Given the description of an element on the screen output the (x, y) to click on. 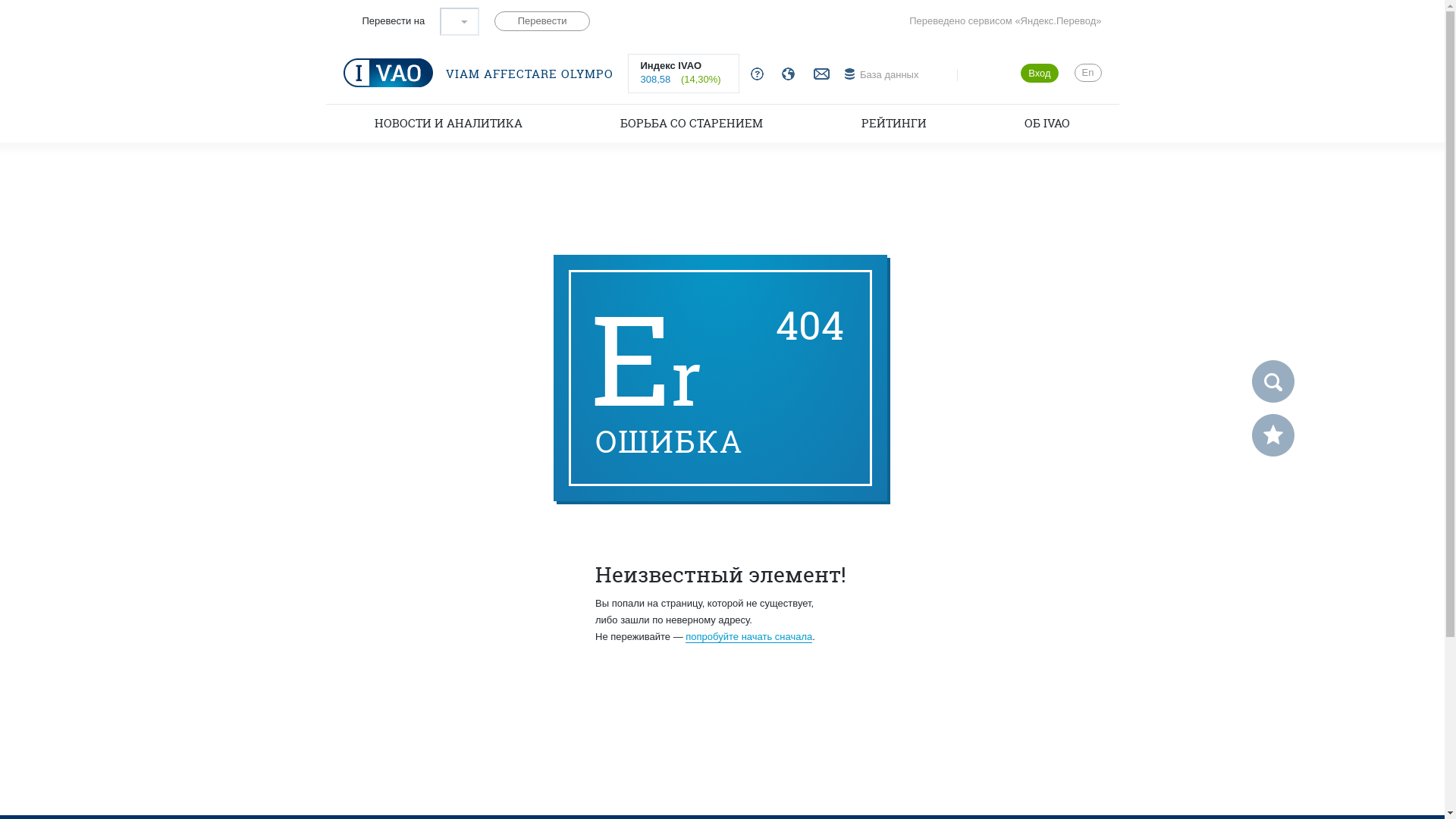
En Element type: text (1087, 72)
VIAM AFFECTARE OLYMPO Element type: text (482, 72)
  Element type: text (458, 21)
